Given the description of an element on the screen output the (x, y) to click on. 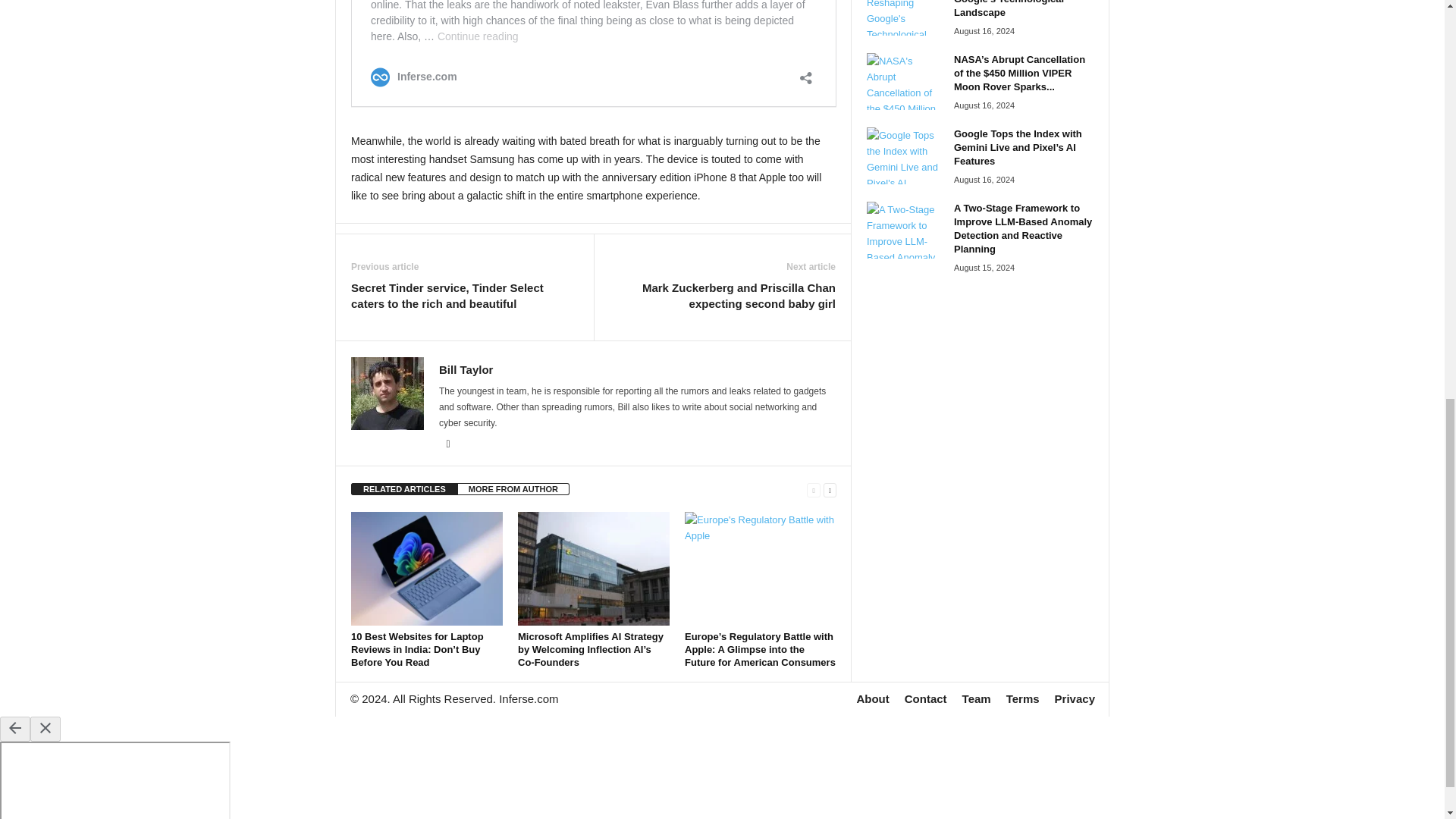
RELATED ARTICLES (404, 489)
Bill Taylor (466, 369)
Twitter (448, 443)
